Given the description of an element on the screen output the (x, y) to click on. 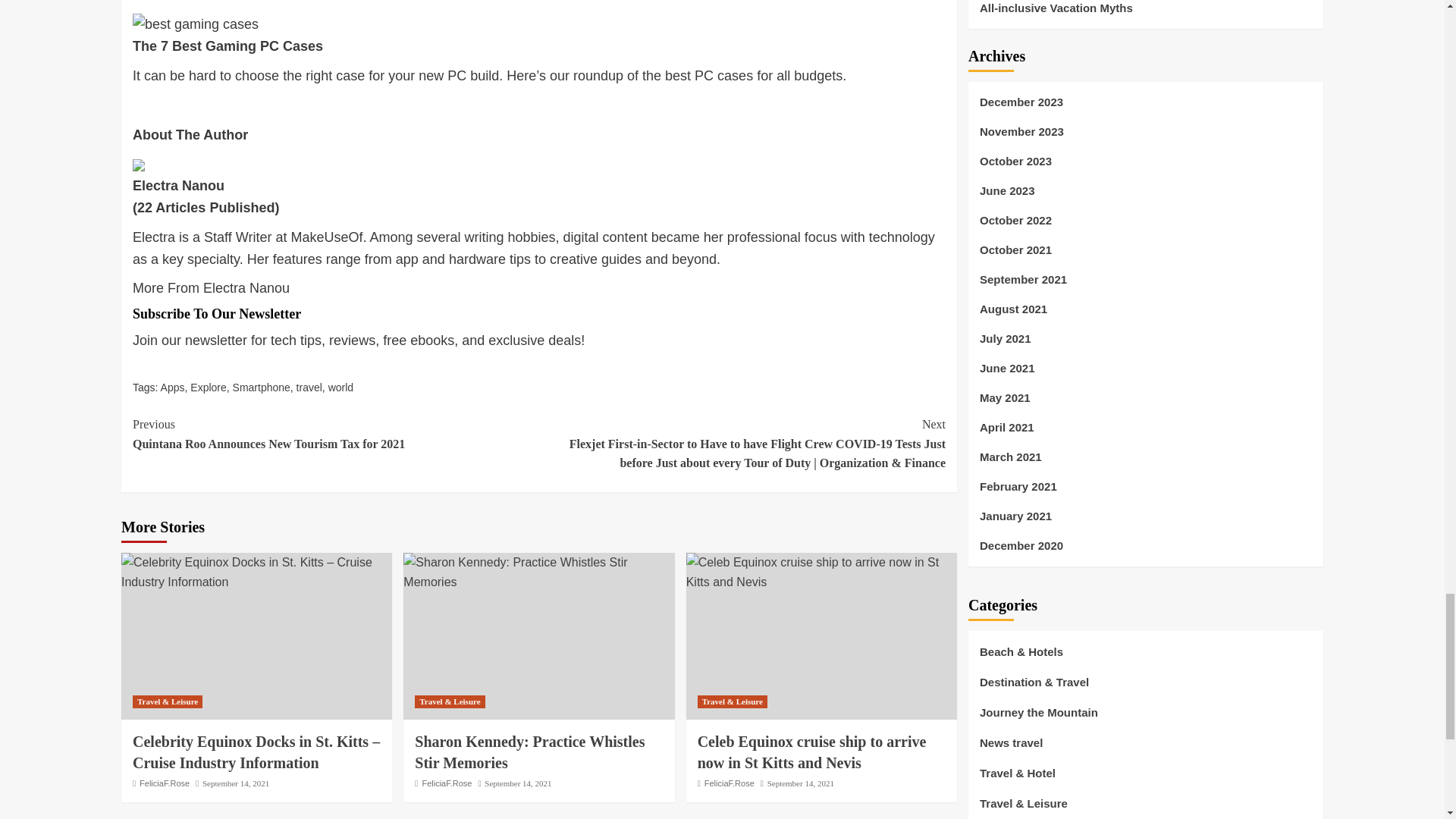
Explore (207, 387)
Apps (172, 387)
Smartphone (260, 387)
Sharon Kennedy: Practice Whistles Stir Memories (538, 571)
